Given the description of an element on the screen output the (x, y) to click on. 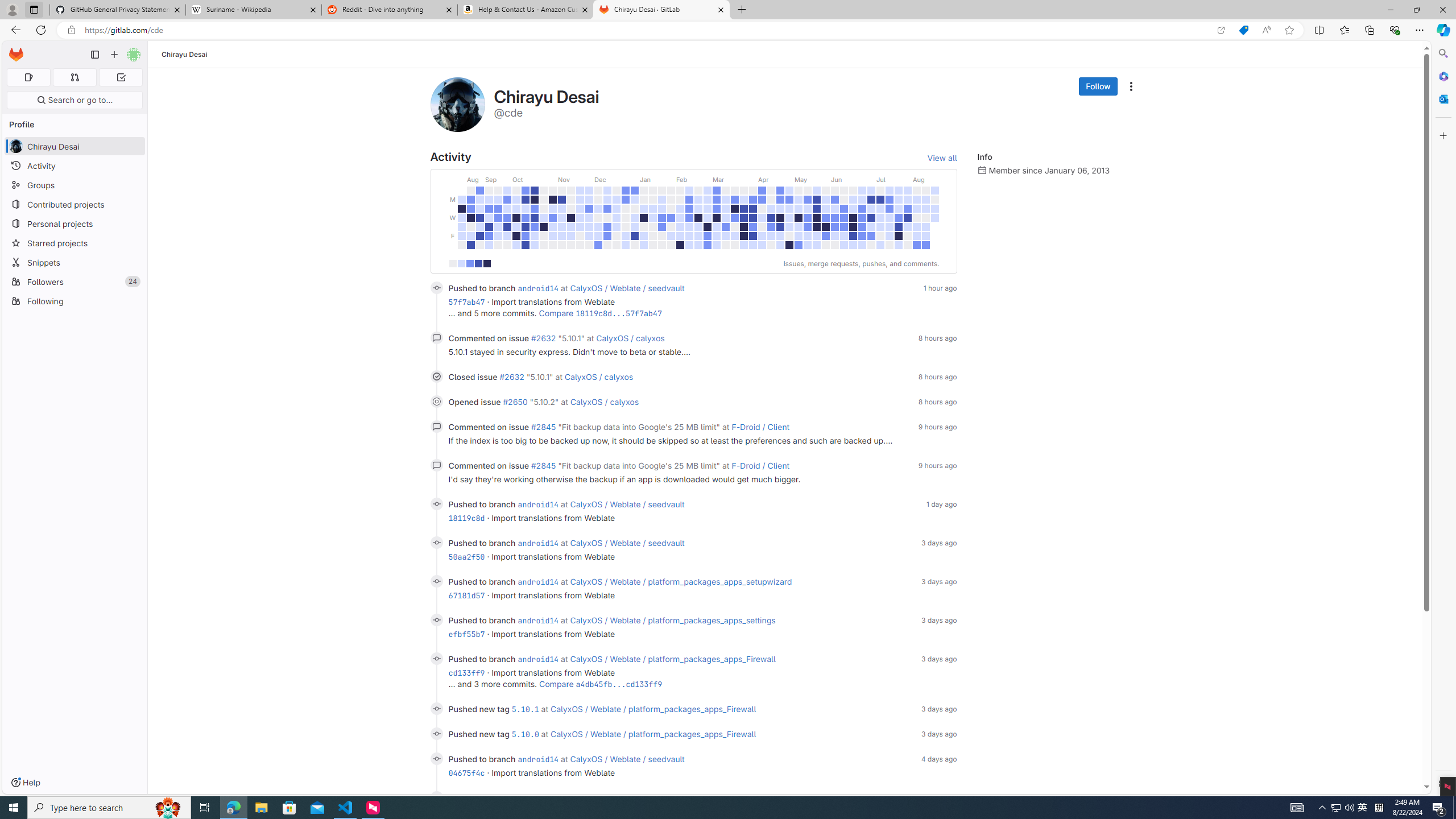
android14 (537, 797)
Reddit - Dive into anything (390, 9)
View all (941, 157)
